Given the description of an element on the screen output the (x, y) to click on. 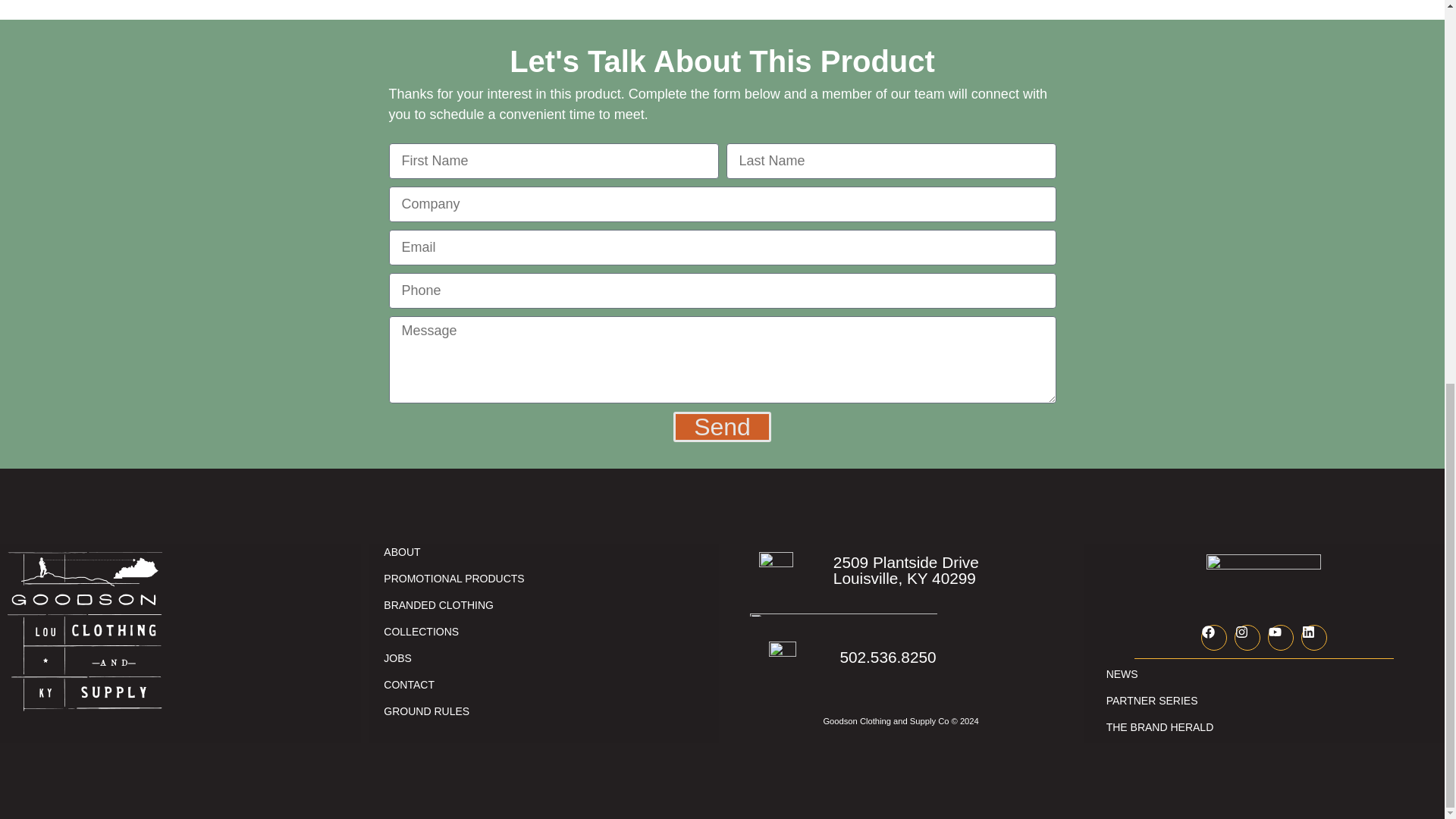
Send (721, 426)
CONTACT (454, 684)
GROUND RULES (454, 711)
COLLECTIONS (454, 631)
ABOUT (454, 552)
BRANDED CLOTHING (454, 605)
PARTNER SERIES (1271, 700)
PROMOTIONAL PRODUCTS (454, 578)
THE BRAND HERALD (1271, 727)
NEWS (1271, 674)
